Given the description of an element on the screen output the (x, y) to click on. 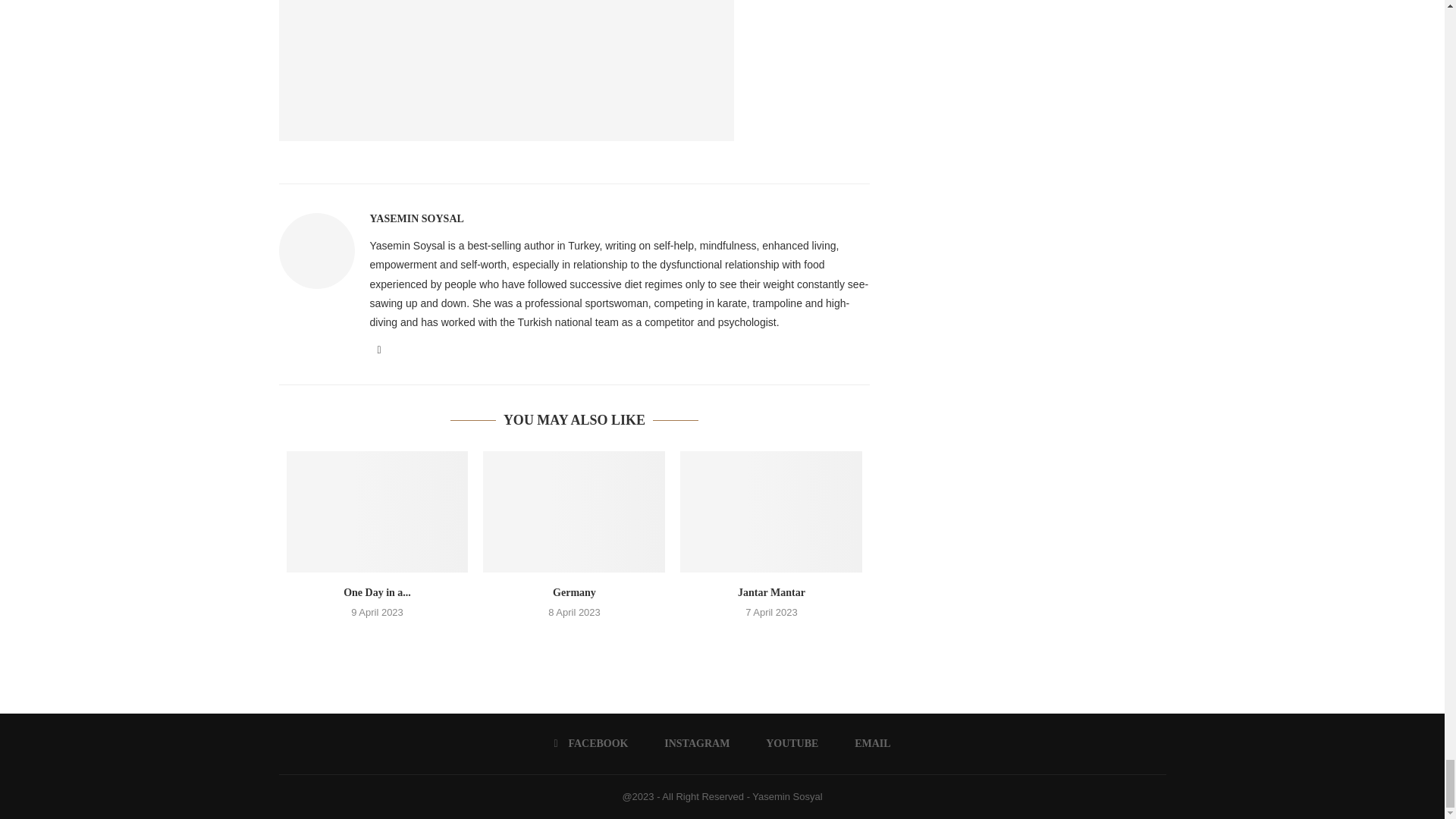
One Day in a Paris: How to Travel Paris in a Day (377, 511)
YASEMIN SOYSAL (416, 218)
One Day in a... (376, 592)
Author Yasemin Soysal (416, 218)
Germany (574, 511)
Jantar Mantar (770, 511)
